Given the description of an element on the screen output the (x, y) to click on. 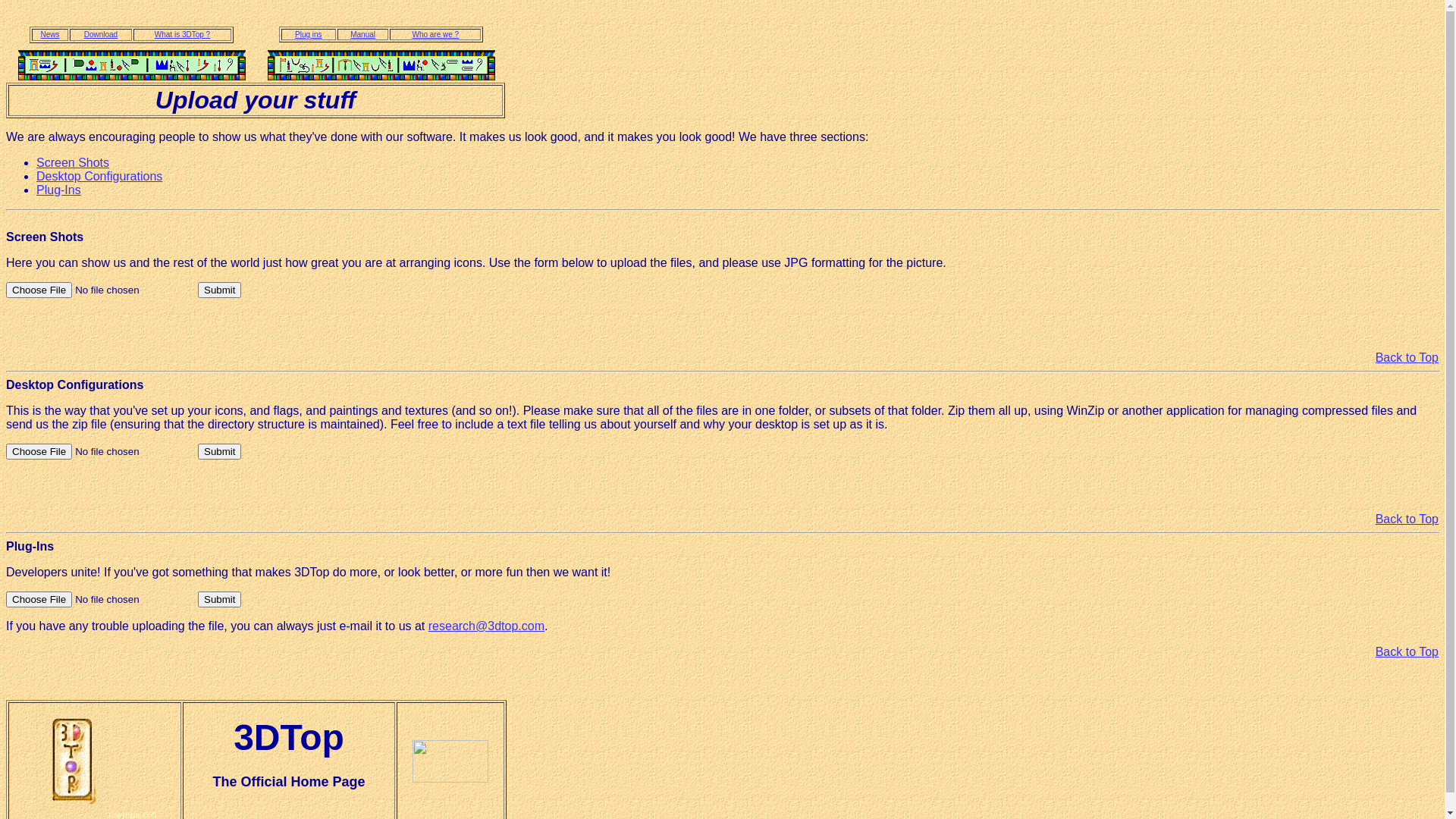
Back to Top Element type: text (1406, 357)
News Element type: text (49, 34)
Download Element type: text (100, 34)
research@3dtop.com Element type: text (486, 625)
Back to Top Element type: text (1406, 518)
What is 3DTop ? Element type: text (182, 34)
Back to Top Element type: text (1406, 651)
Who are we ? Element type: text (434, 34)
Screen Shots Element type: text (72, 162)
Plug-Ins Element type: text (58, 189)
Plug ins Element type: text (308, 34)
Manual Element type: text (362, 34)
Desktop Configurations Element type: text (99, 175)
